Given the description of an element on the screen output the (x, y) to click on. 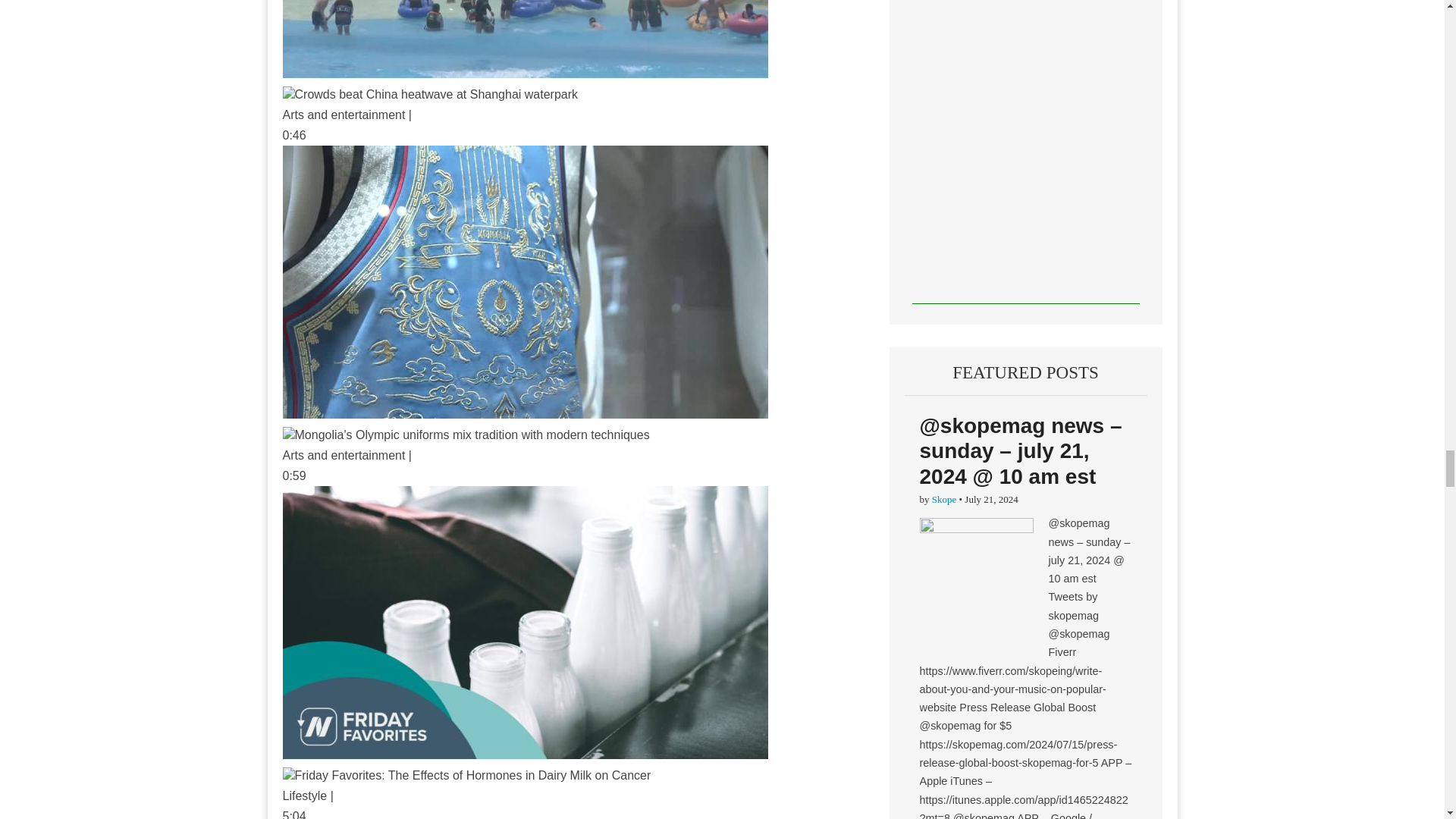
Posts by Skope (943, 499)
